Given the description of an element on the screen output the (x, y) to click on. 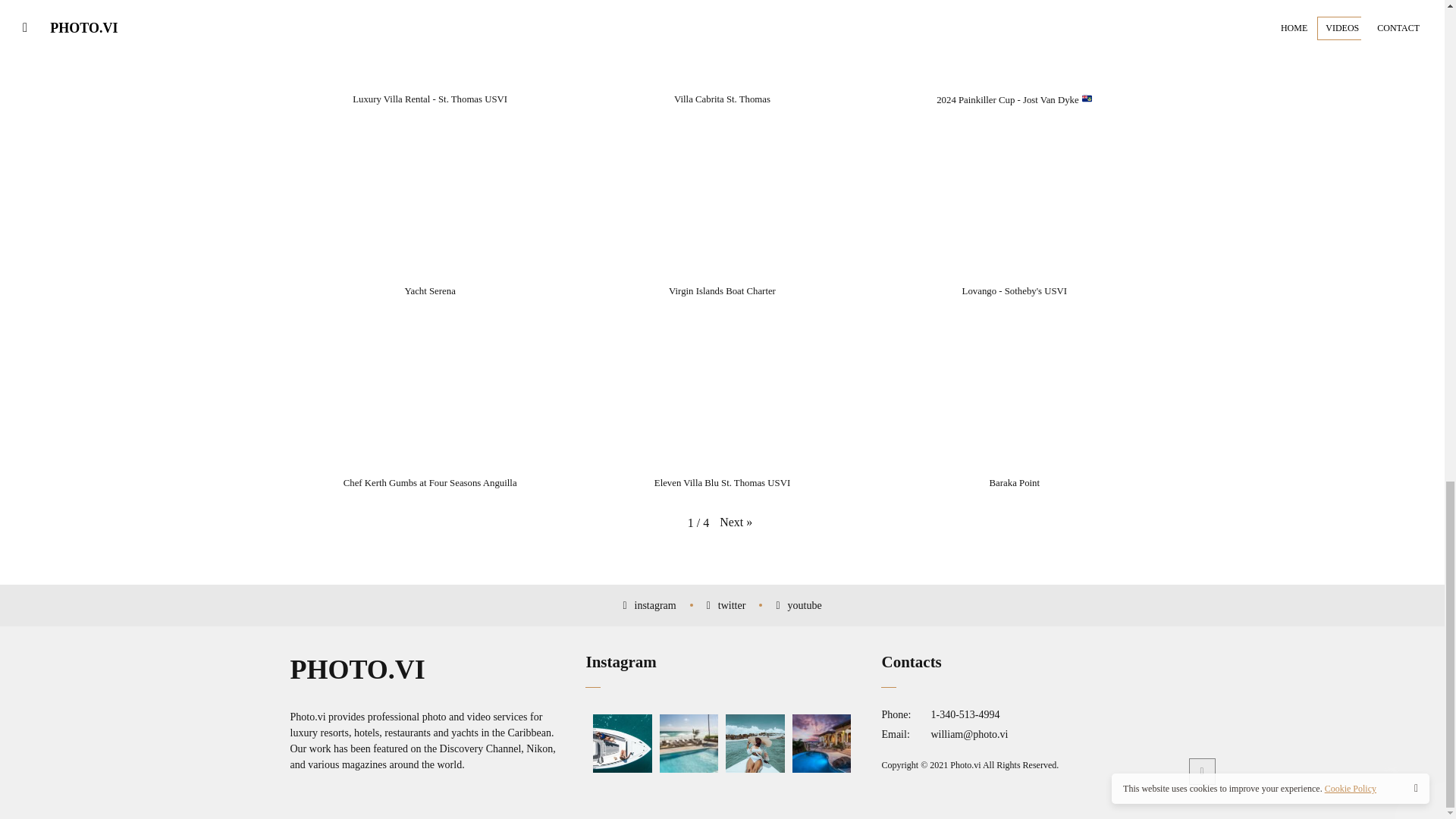
youtube (798, 605)
instagram (649, 605)
PHOTO.VI (357, 669)
twitter (725, 605)
